Given the description of an element on the screen output the (x, y) to click on. 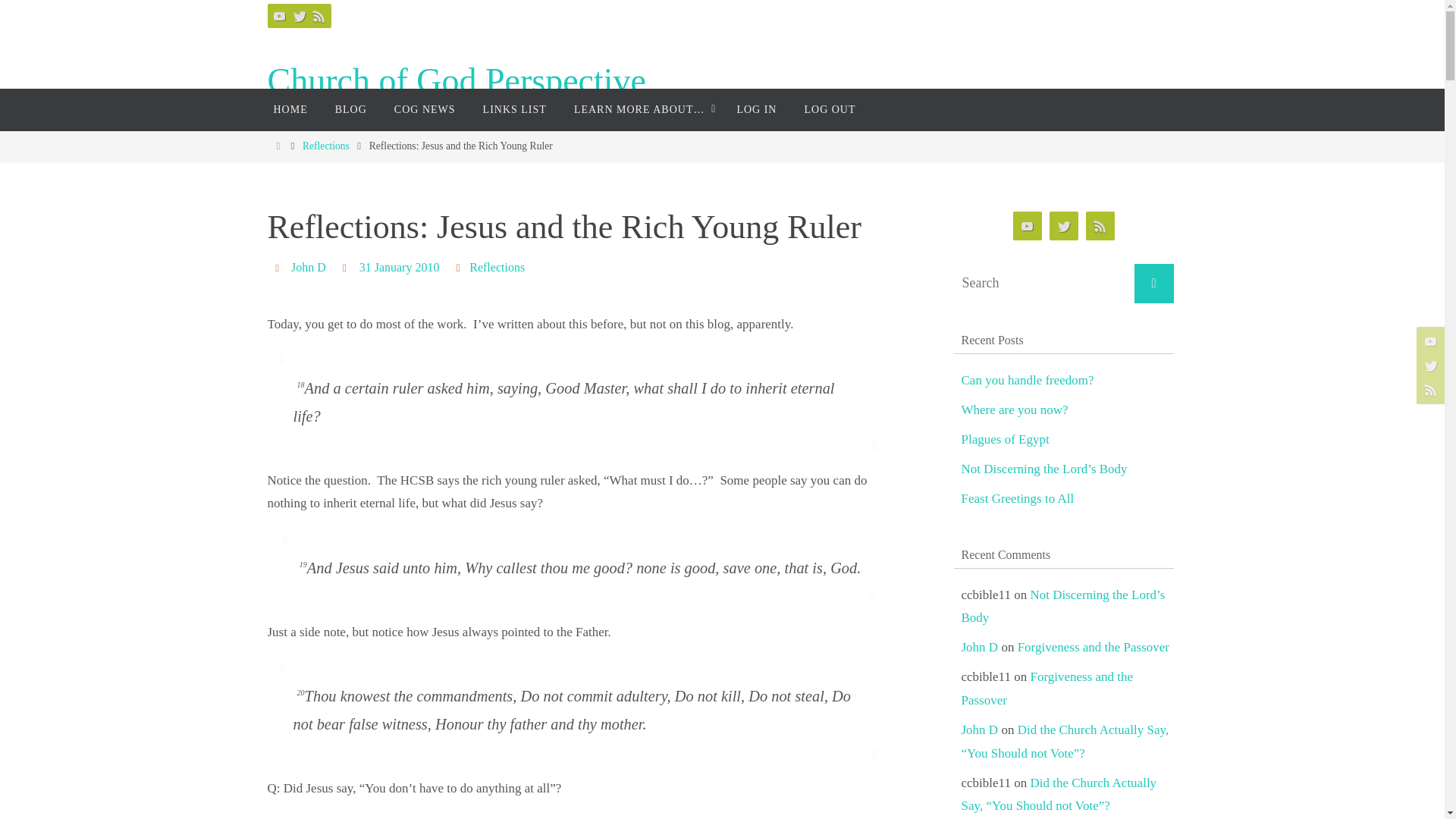
31 January 2010 (399, 267)
COG NEWS (424, 109)
Author  (278, 267)
Church of God Perspective (456, 81)
Categories (458, 267)
LINKS LIST (514, 109)
LOG IN (756, 109)
Church of God Perspective (456, 81)
BLOG (350, 109)
LOG OUT (829, 109)
YouTube (278, 15)
Reflections (496, 267)
John D (308, 267)
RSS (317, 15)
HOME (289, 109)
